Given the description of an element on the screen output the (x, y) to click on. 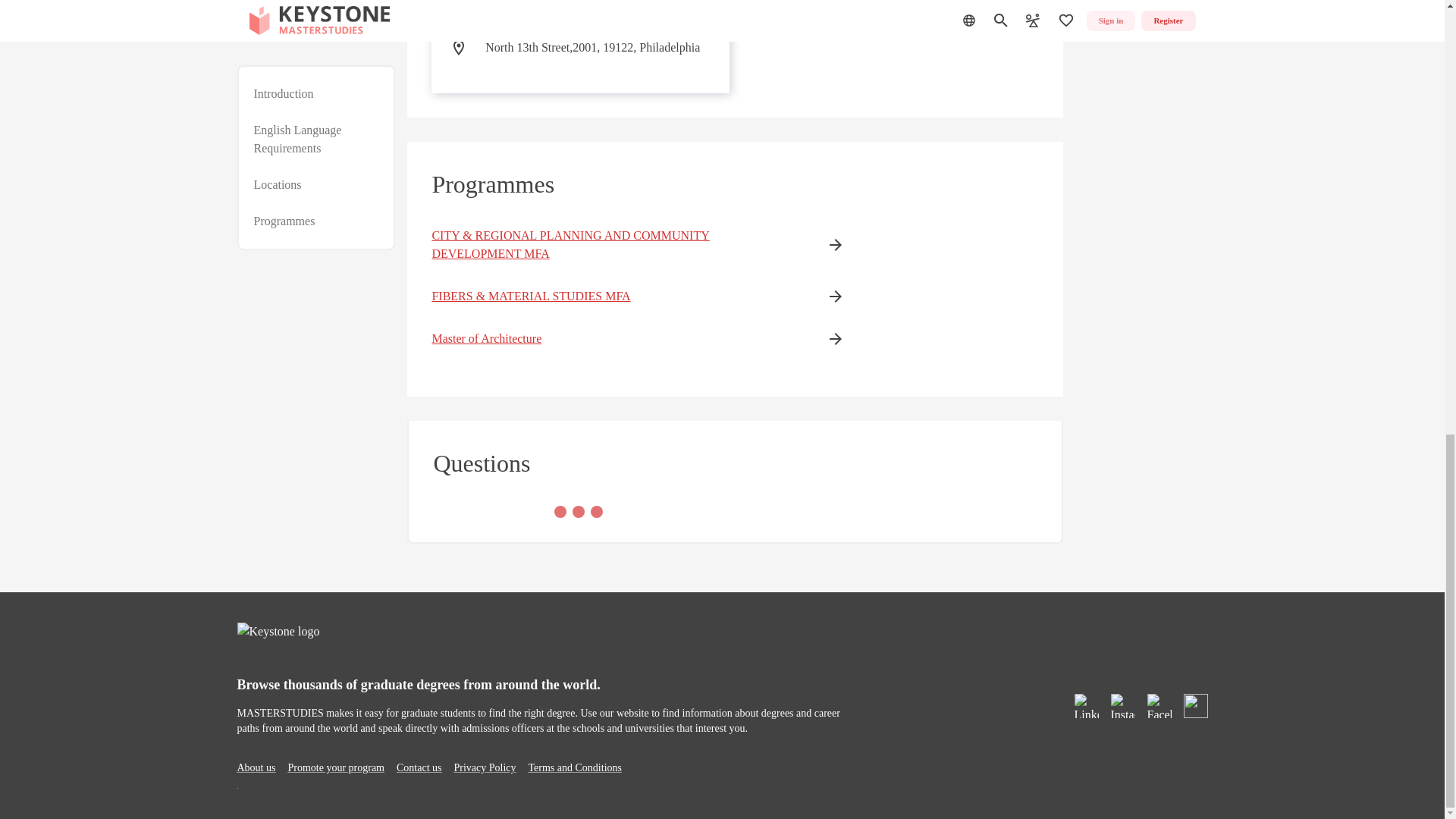
Privacy Policy (483, 767)
About us (255, 767)
Terms and Conditions (574, 767)
Contact us (419, 767)
Promote your program (335, 767)
Master of Architecture (613, 339)
